Given the description of an element on the screen output the (x, y) to click on. 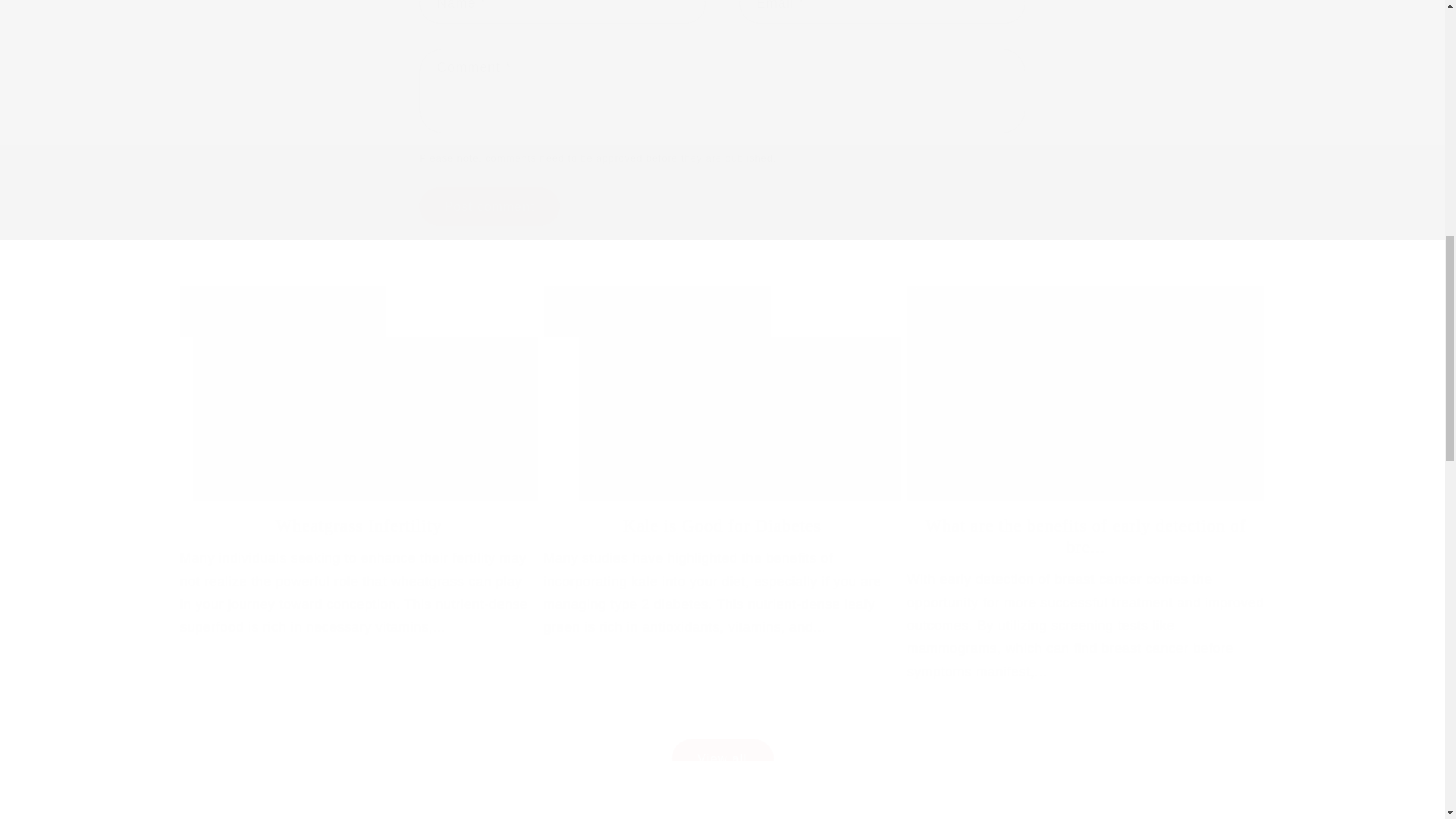
View all (722, 737)
Post comment (489, 206)
